Given the description of an element on the screen output the (x, y) to click on. 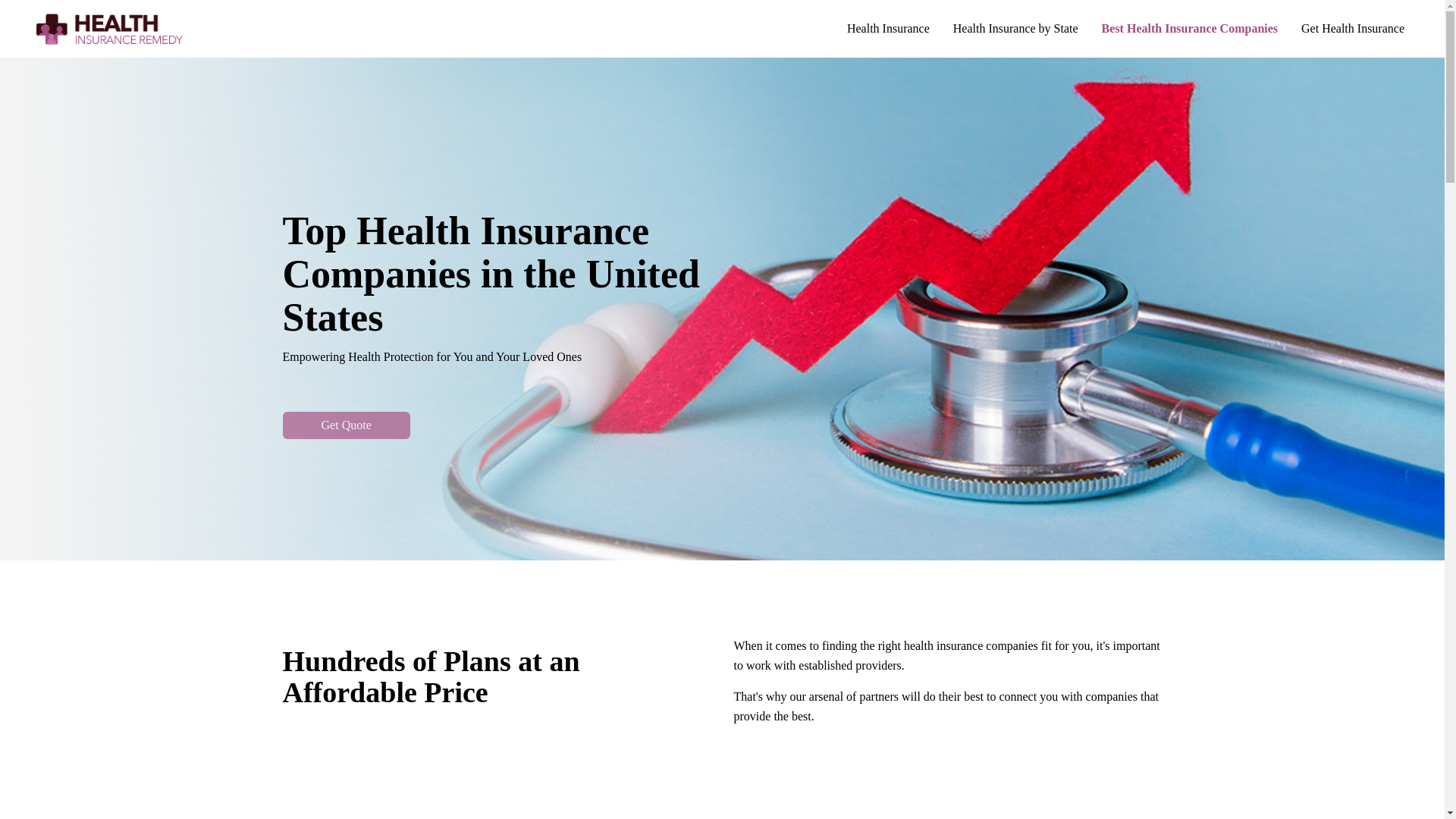
Health Insurance (888, 29)
Best Health Insurance Companies (1190, 29)
Get Quote (345, 424)
Health Insurance by State (1015, 29)
Get Health Insurance (1352, 29)
